Given the description of an element on the screen output the (x, y) to click on. 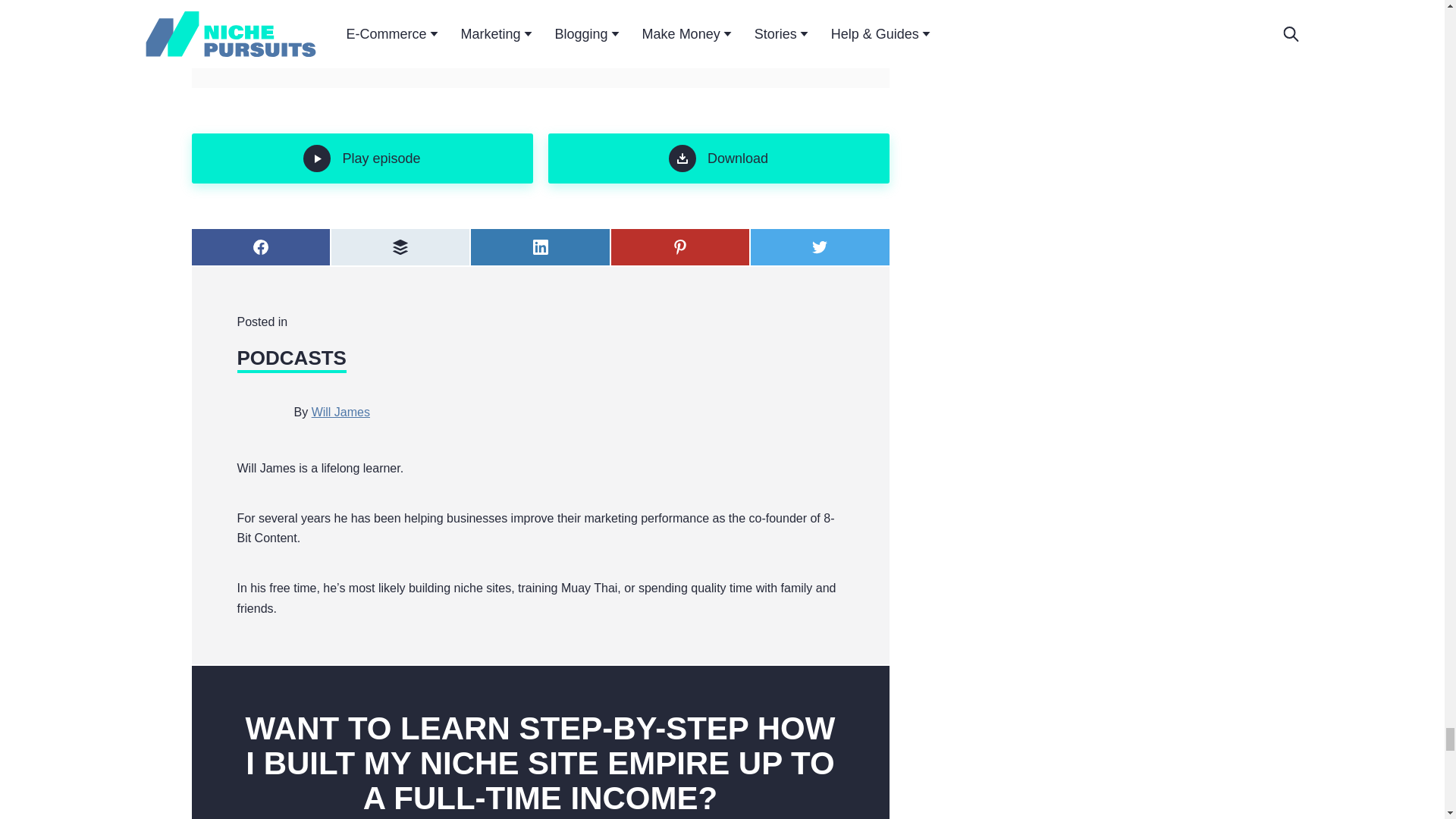
Play episode (361, 158)
Download (717, 158)
